Given the description of an element on the screen output the (x, y) to click on. 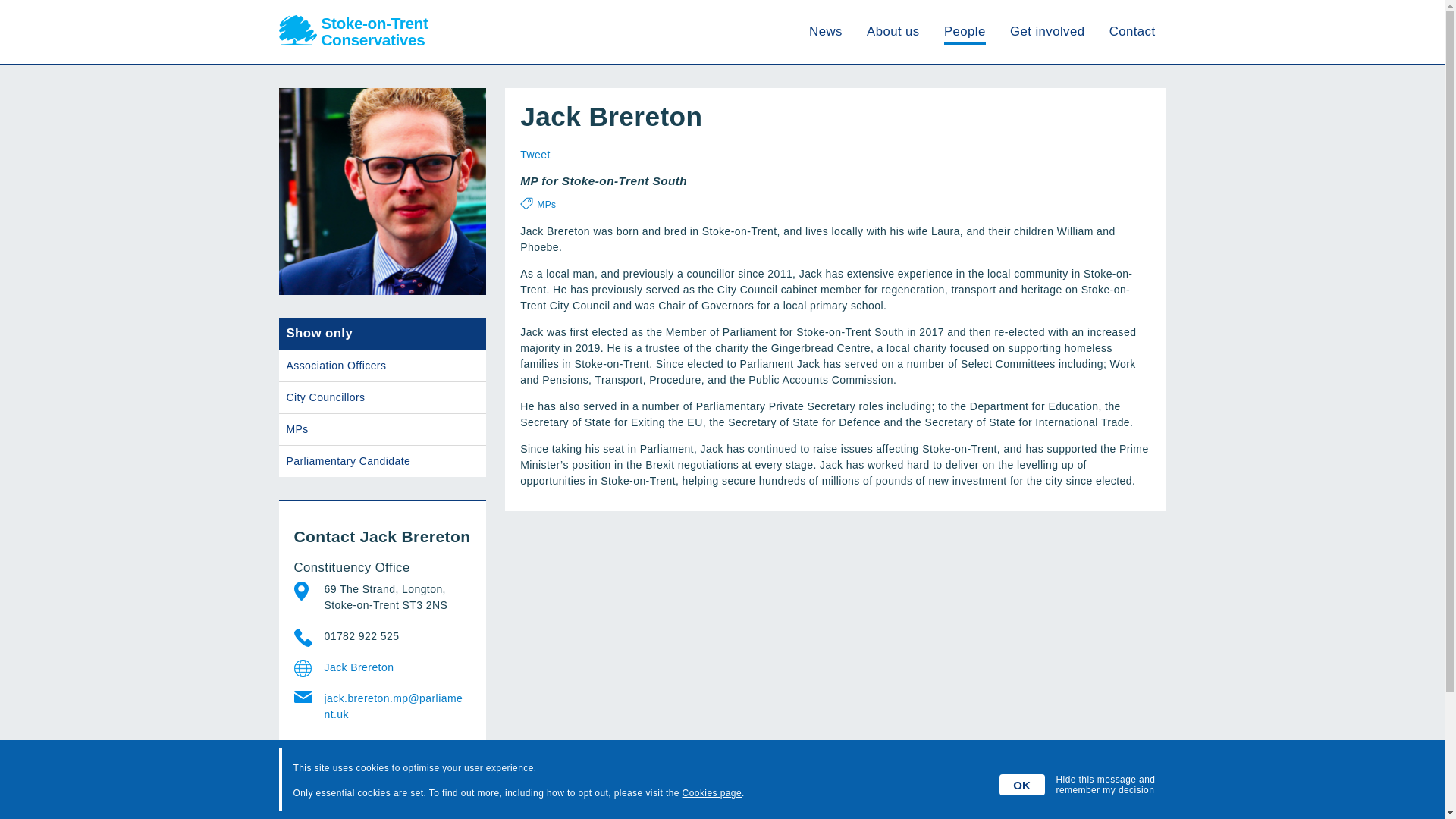
Get involved (1047, 31)
Contact (1132, 31)
Association Officers (382, 365)
Cookies page (711, 792)
People (964, 31)
City Councillors (382, 397)
News (826, 31)
MPs (546, 204)
About us (893, 31)
Tweet (534, 154)
Jack Brereton (394, 667)
Parliamentary Candidate (382, 460)
OK (1021, 784)
Stoke-on-Trent Conservatives (722, 796)
